Given the description of an element on the screen output the (x, y) to click on. 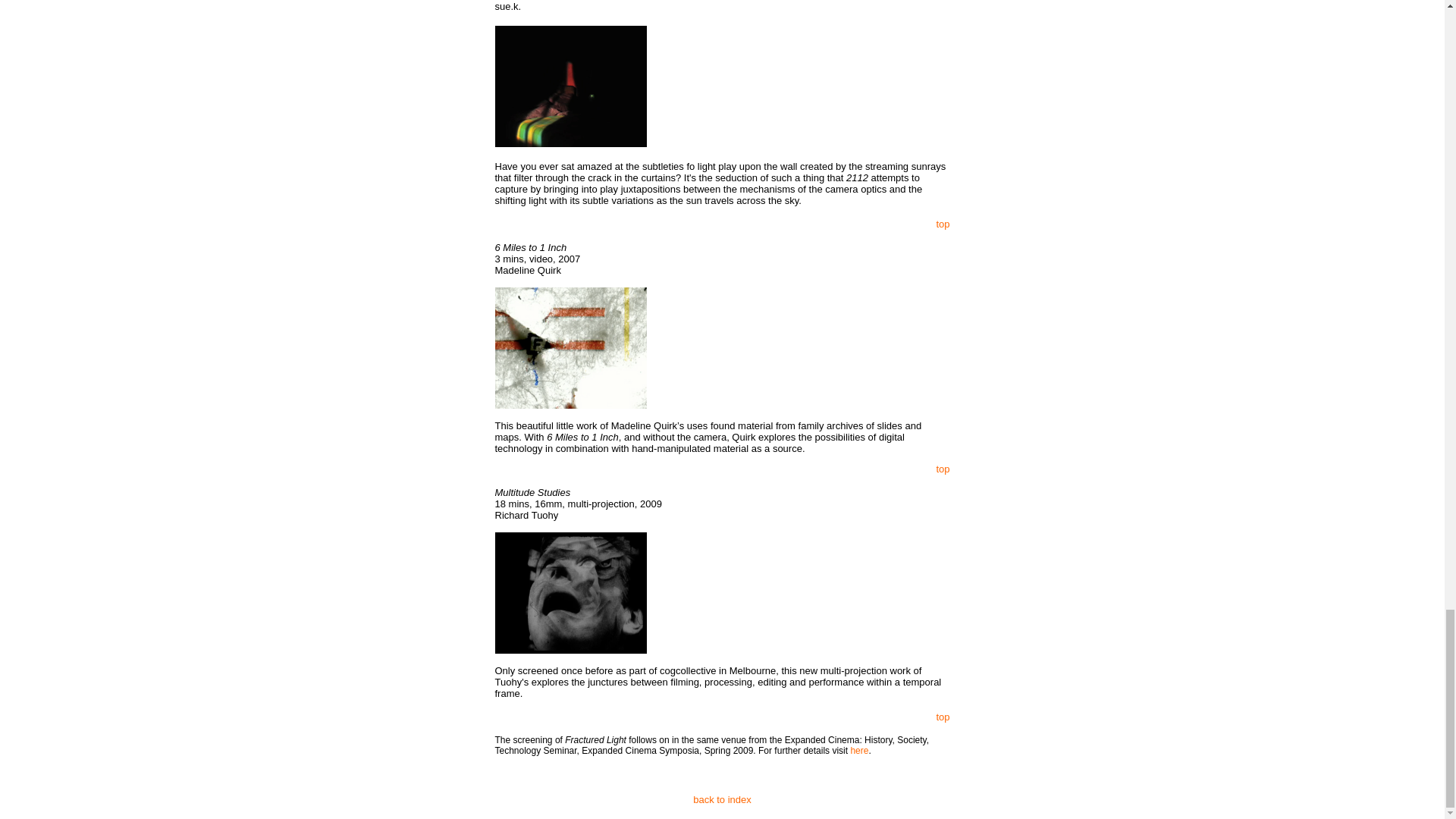
back to index (722, 799)
here (858, 750)
top (942, 469)
top (942, 224)
top (942, 716)
